Given the description of an element on the screen output the (x, y) to click on. 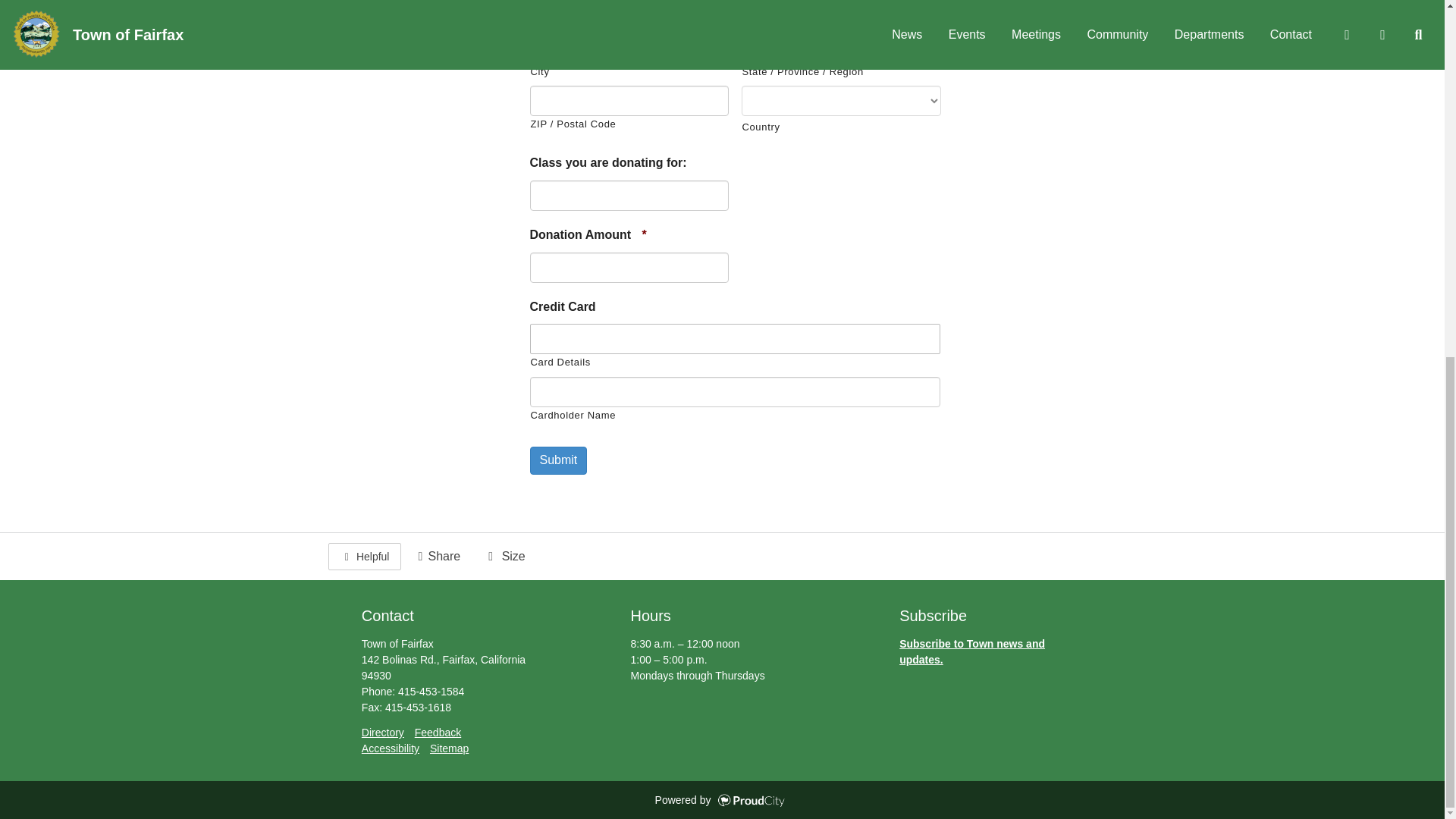
Submit (557, 460)
